Given the description of an element on the screen output the (x, y) to click on. 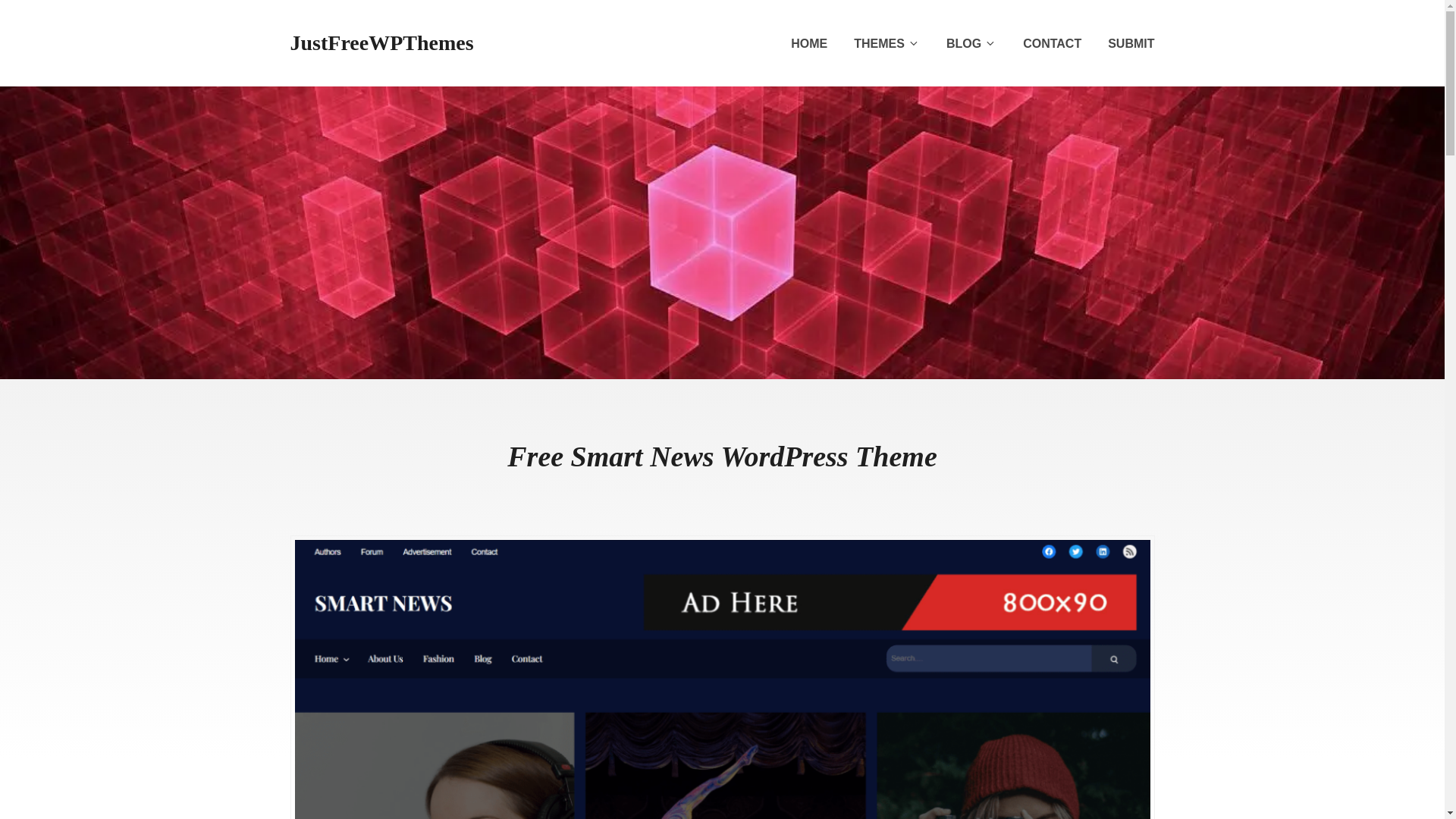
BLOG (970, 44)
THEMES (886, 44)
CONTACT (1052, 44)
JustFreeWPThemes (381, 42)
SUBMIT (1131, 44)
HOME (808, 44)
